Given the description of an element on the screen output the (x, y) to click on. 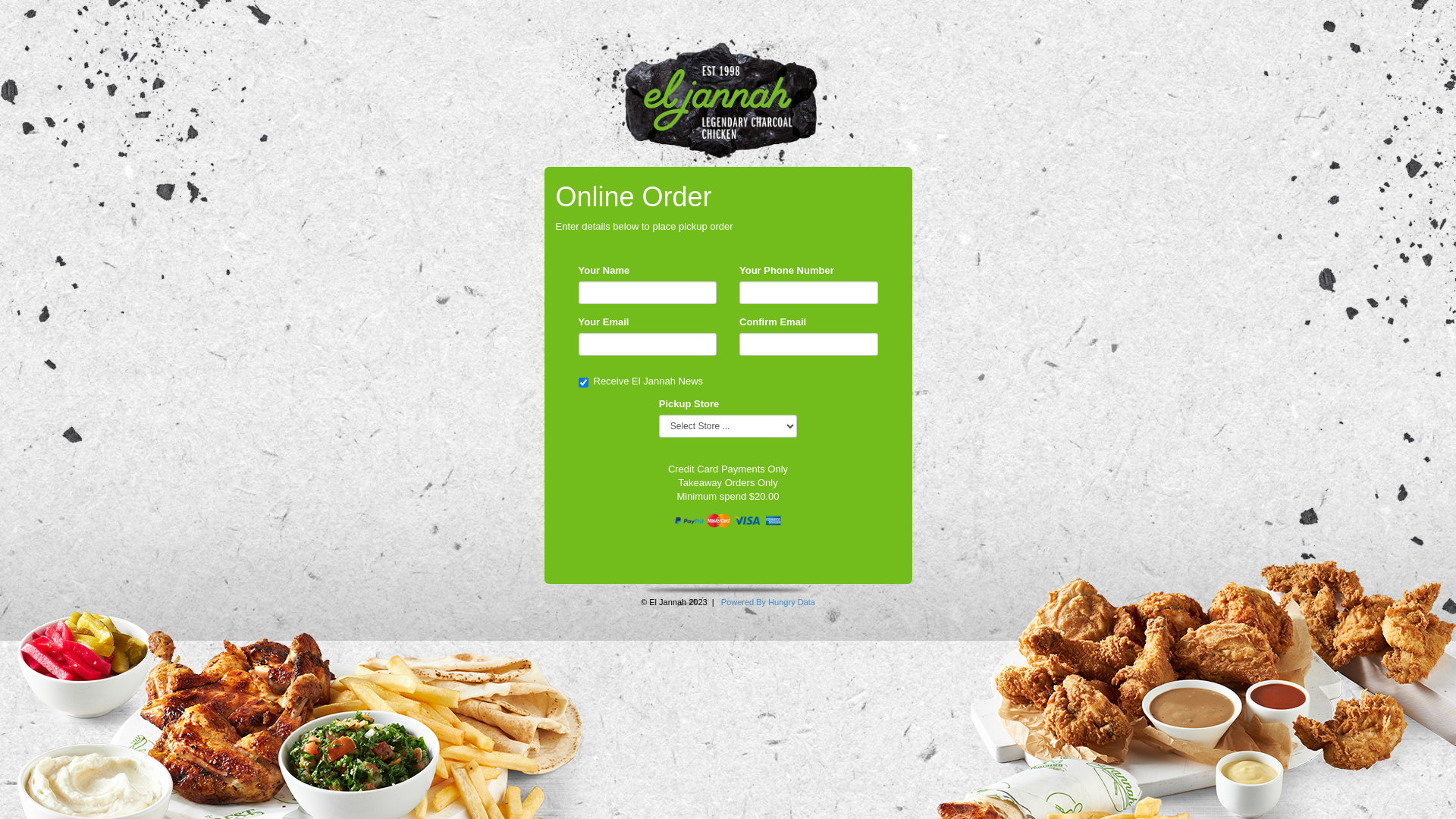
Powered By Hungry Data Element type: text (768, 601)
